Given the description of an element on the screen output the (x, y) to click on. 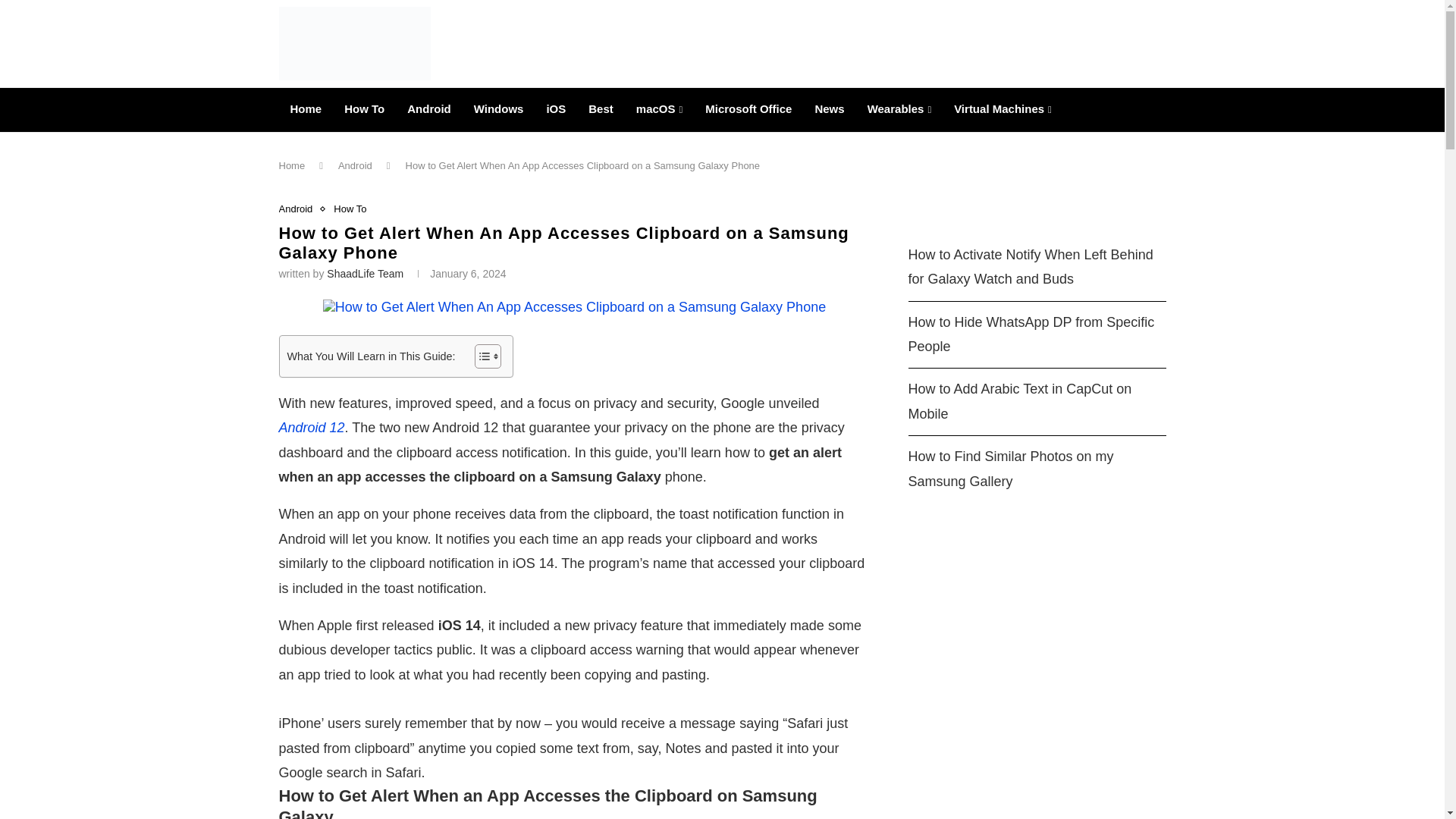
Windows (499, 109)
Android (429, 109)
iOS (555, 109)
How To (364, 109)
Best (600, 109)
Home (306, 109)
